Given the description of an element on the screen output the (x, y) to click on. 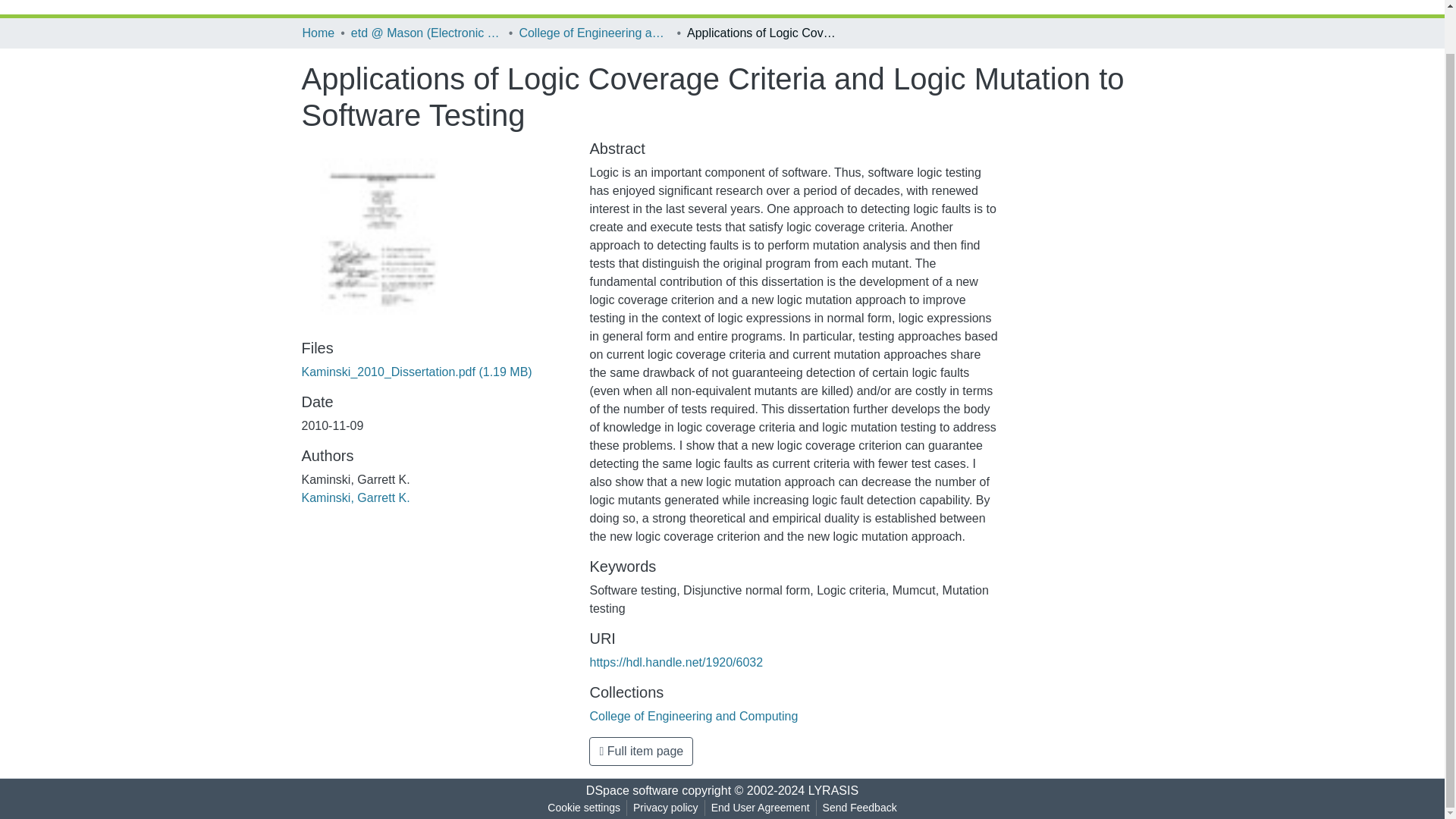
Send Feedback (859, 807)
Kaminski, Garrett K. (355, 497)
College of Engineering and Computing (693, 716)
Privacy policy (665, 807)
End User Agreement (759, 807)
Full item page (641, 751)
Cookie settings (583, 807)
LYRASIS (833, 789)
Home (317, 33)
DSpace software (632, 789)
College of Engineering and Computing (593, 33)
